Given the description of an element on the screen output the (x, y) to click on. 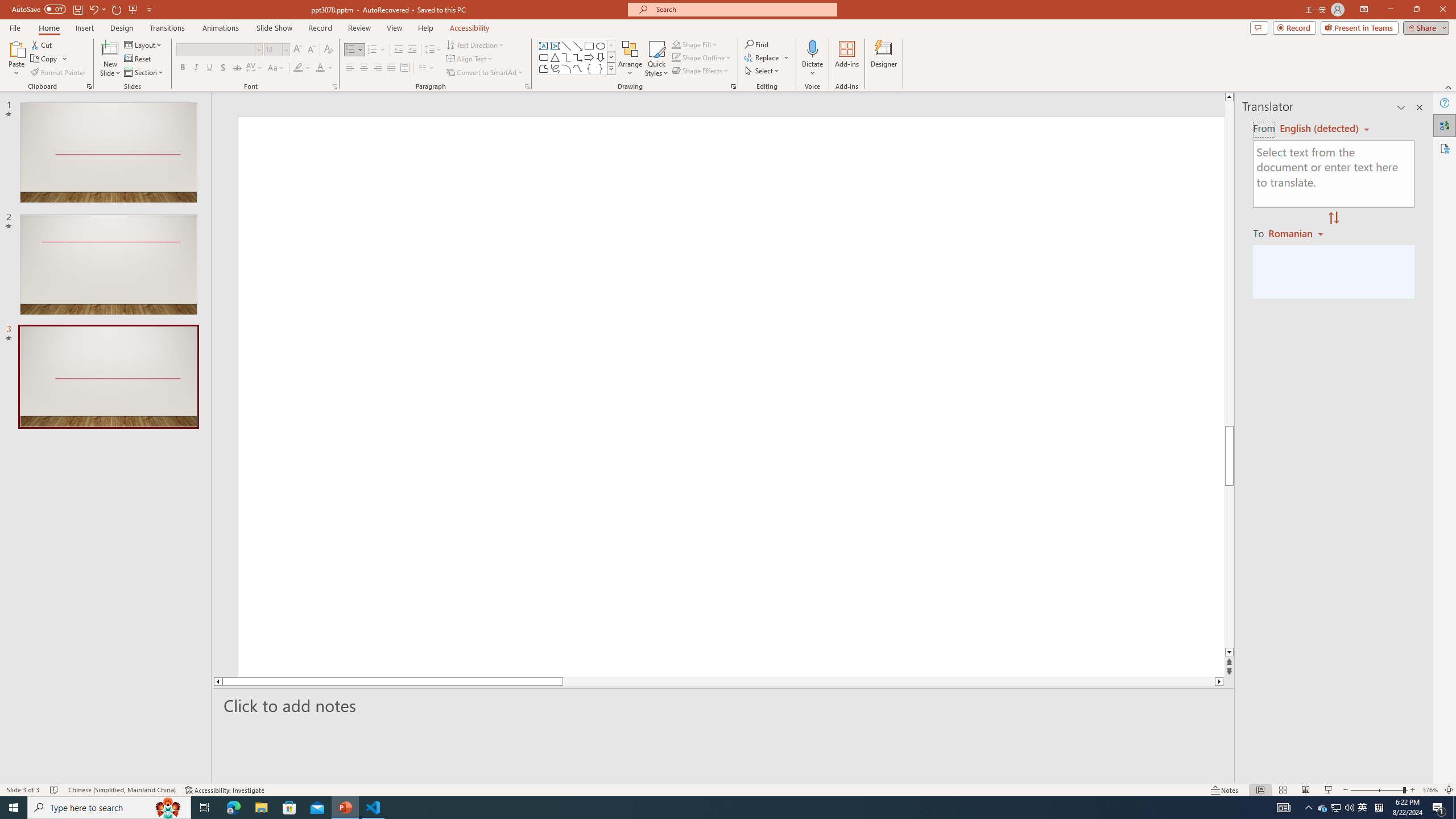
Czech (detected) (1319, 128)
Zoom 376% (1430, 790)
Swap "from" and "to" languages. (1333, 218)
